Given the description of an element on the screen output the (x, y) to click on. 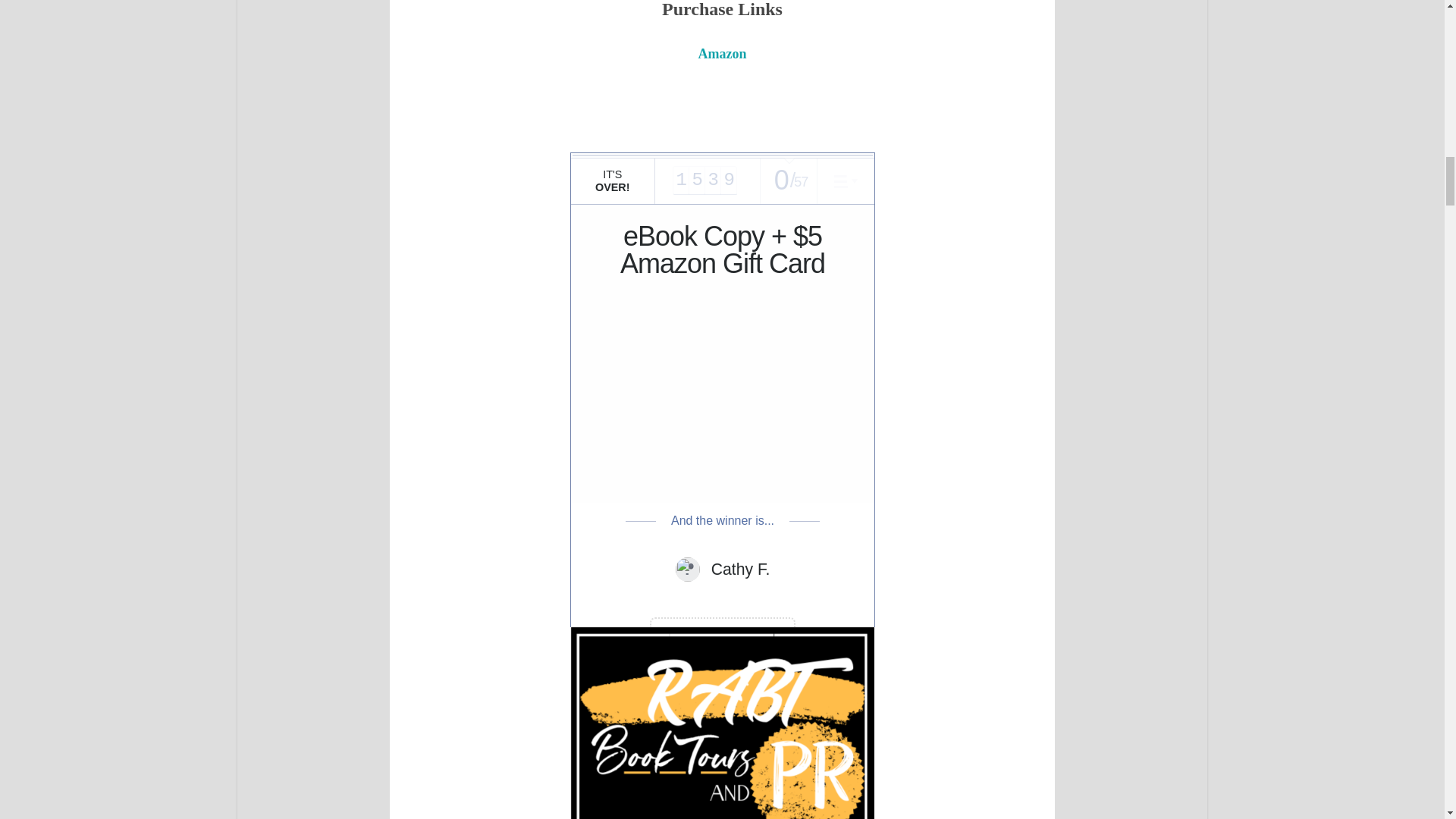
Amazon (721, 52)
